Given the description of an element on the screen output the (x, y) to click on. 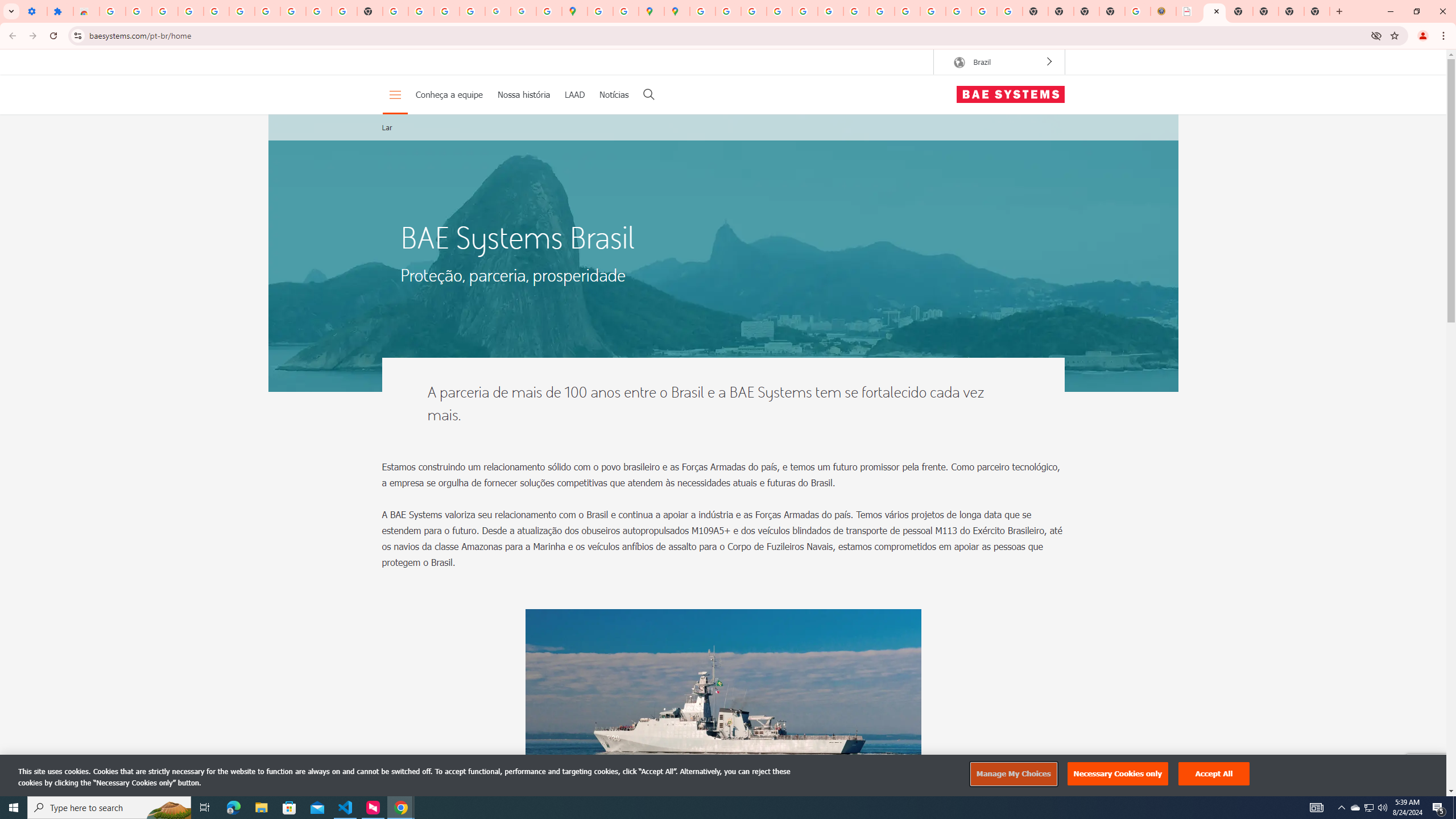
 International Region Icon (959, 62)
Accept All (1213, 774)
A view over Rio de Janeiro (722, 252)
New Tab (1111, 11)
Privacy Help Center - Policies Help (779, 11)
Privacy Help Center - Policies Help (753, 11)
Lar (387, 126)
